Given the description of an element on the screen output the (x, y) to click on. 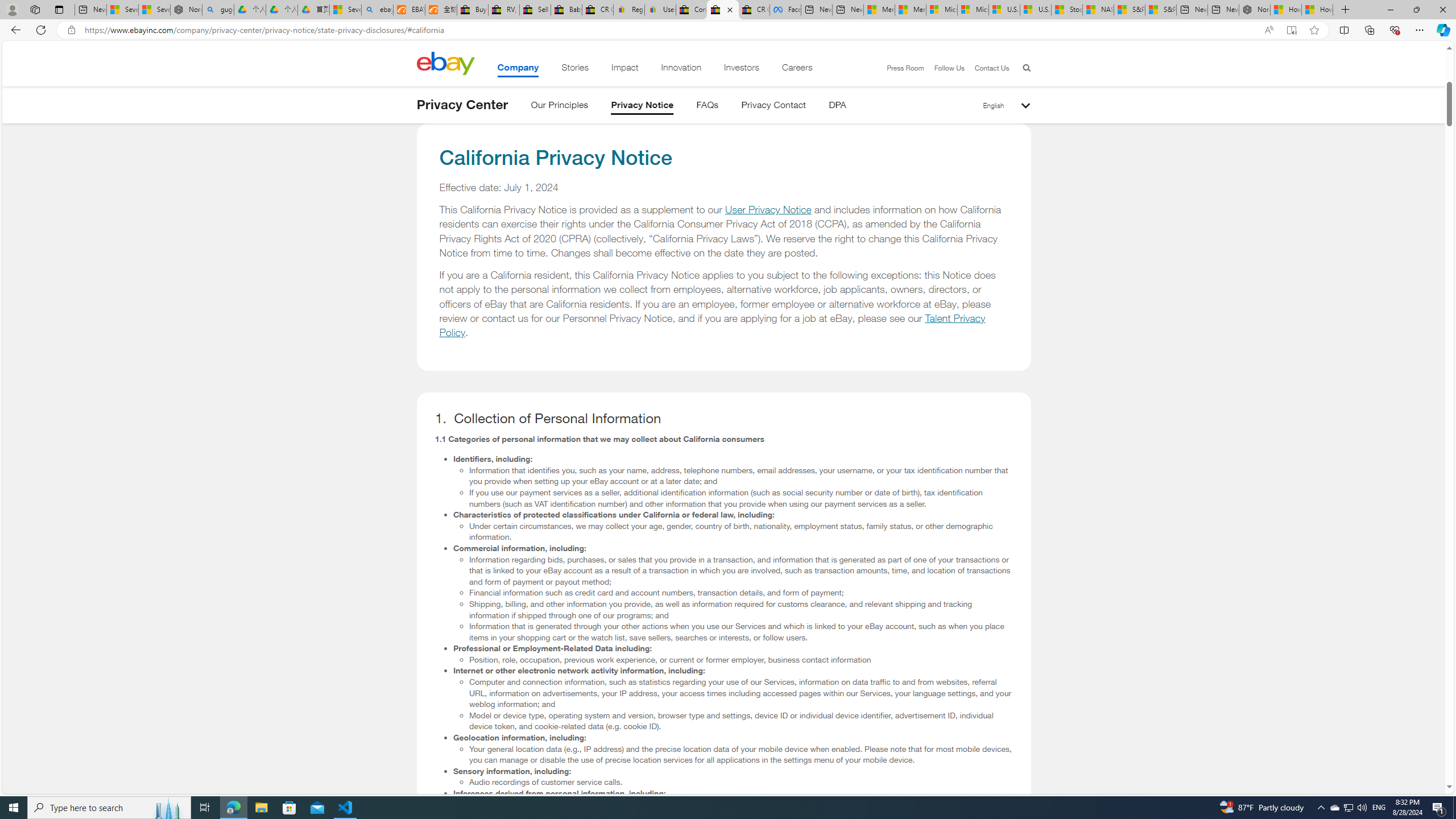
FAQs (707, 107)
User Privacy Notice (767, 209)
Register: Create a personal eBay account (628, 9)
